Given the description of an element on the screen output the (x, y) to click on. 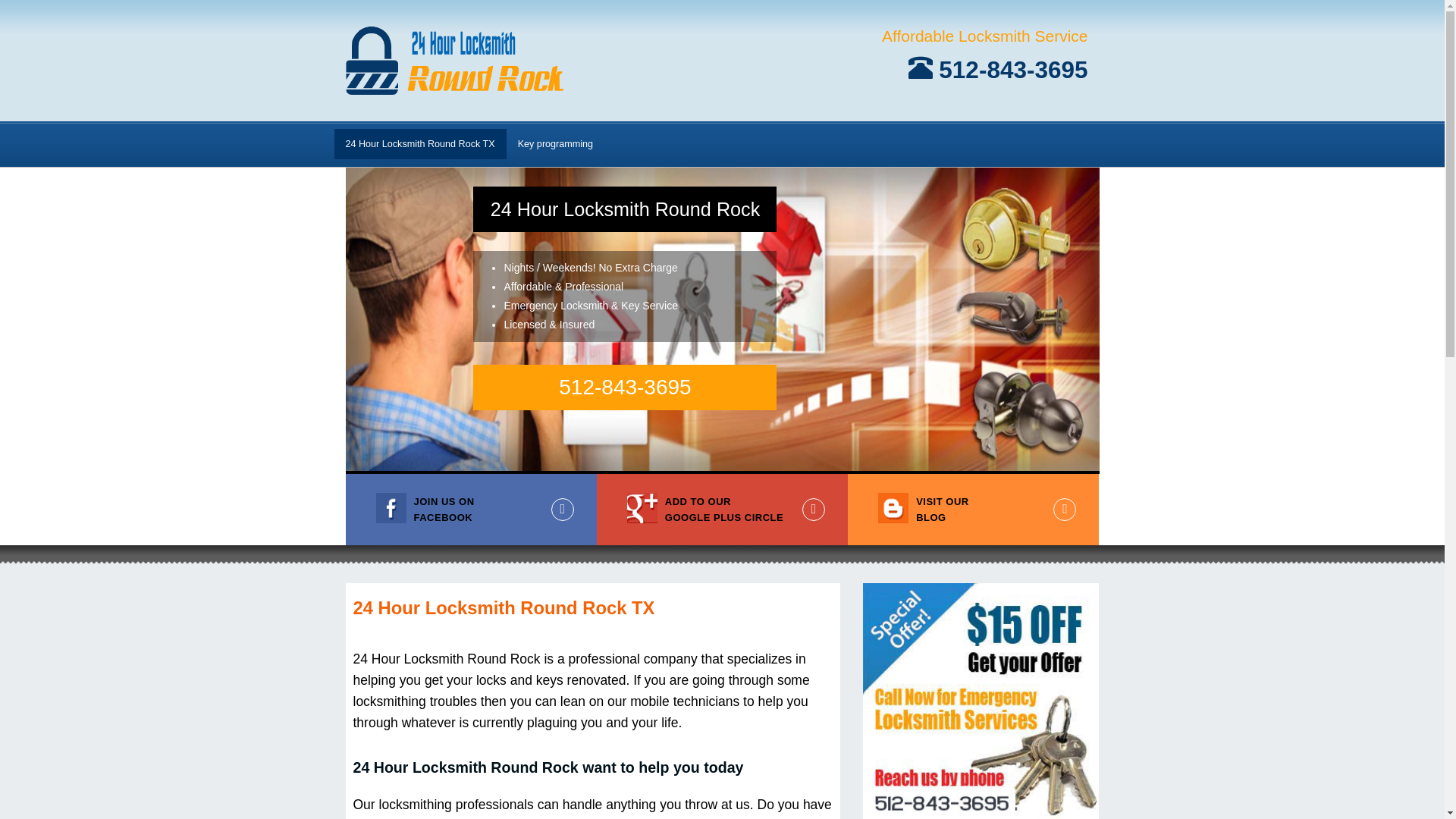
24 hour locksmith round rock Element type: hover (454, 59)
VISIT OUR
BLOG Element type: text (972, 509)
ADD TO OUR
GOOGLE PLUS CIRCLE Element type: text (721, 509)
JOIN US ON
FACEBOOK Element type: text (470, 509)
24 Hour Locksmith Round Rock TX Element type: text (419, 143)
Key programming Element type: text (555, 143)
512-843-3695 Element type: text (998, 69)
